Given the description of an element on the screen output the (x, y) to click on. 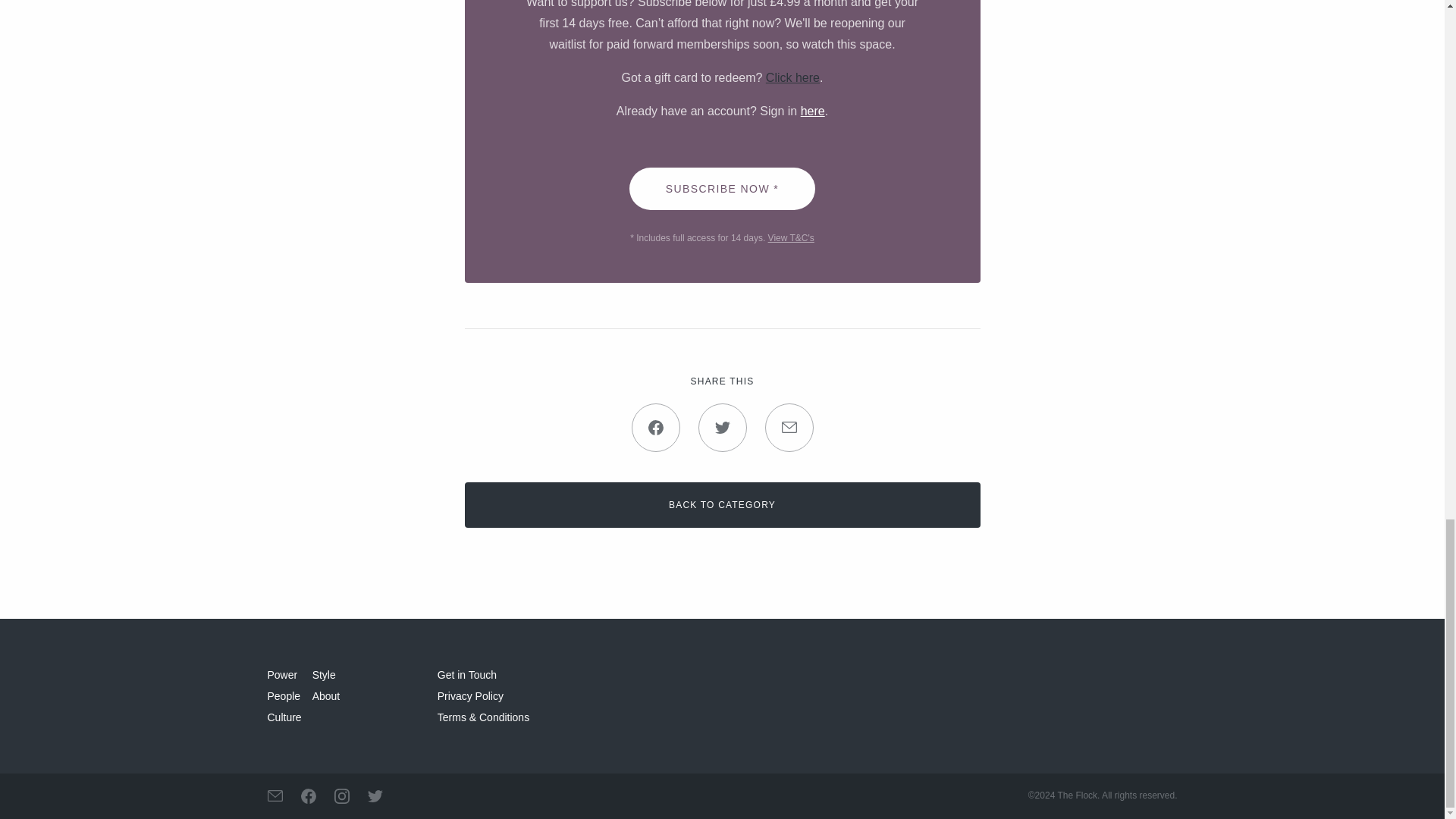
Culture (283, 717)
Get in Touch (467, 674)
Power (281, 674)
People (282, 695)
Style (324, 674)
BACK TO CATEGORY (721, 504)
Culture (283, 717)
People (282, 695)
here (812, 110)
Power (281, 674)
